Given the description of an element on the screen output the (x, y) to click on. 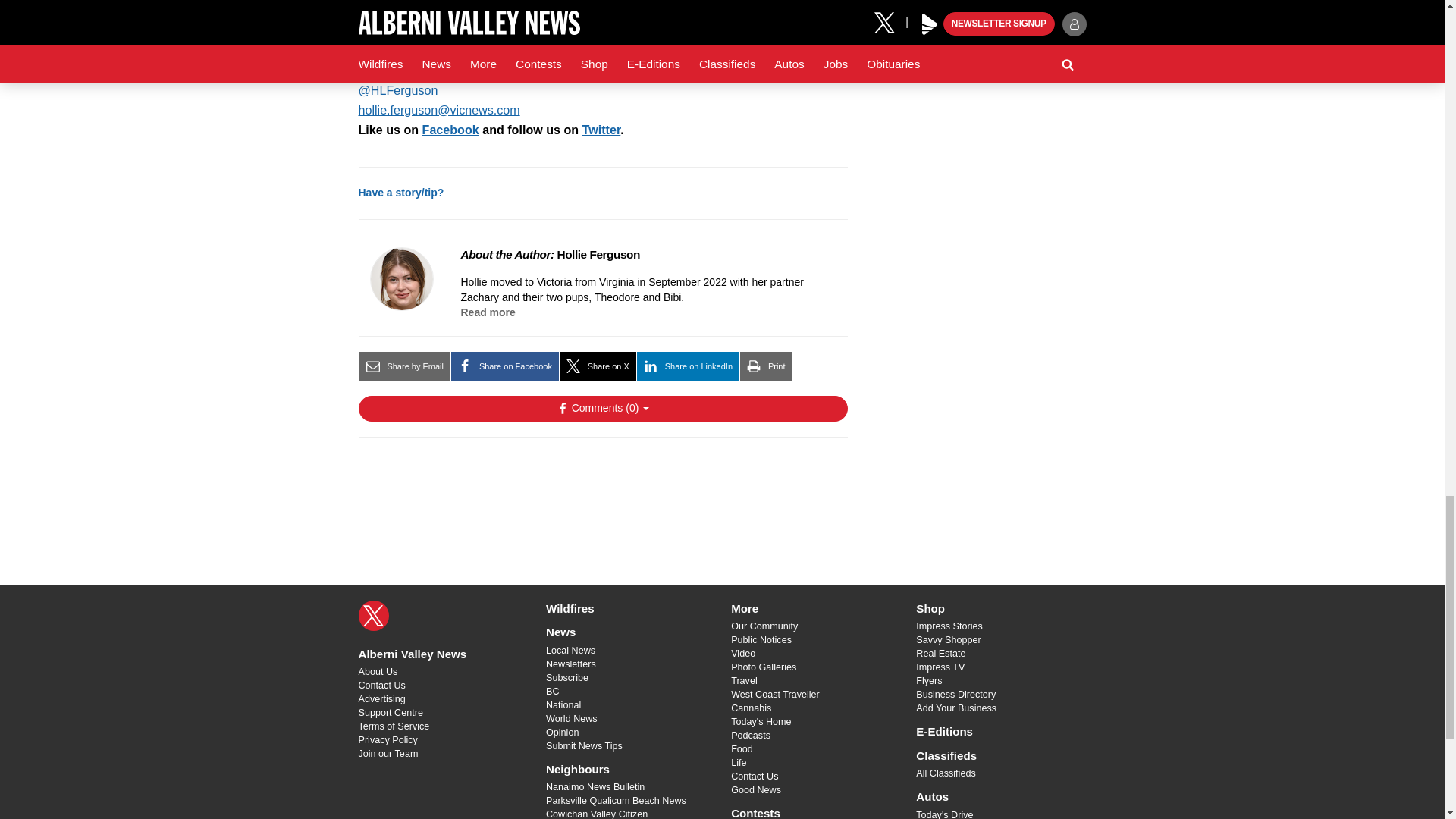
Show Comments (602, 408)
X (373, 615)
